Given the description of an element on the screen output the (x, y) to click on. 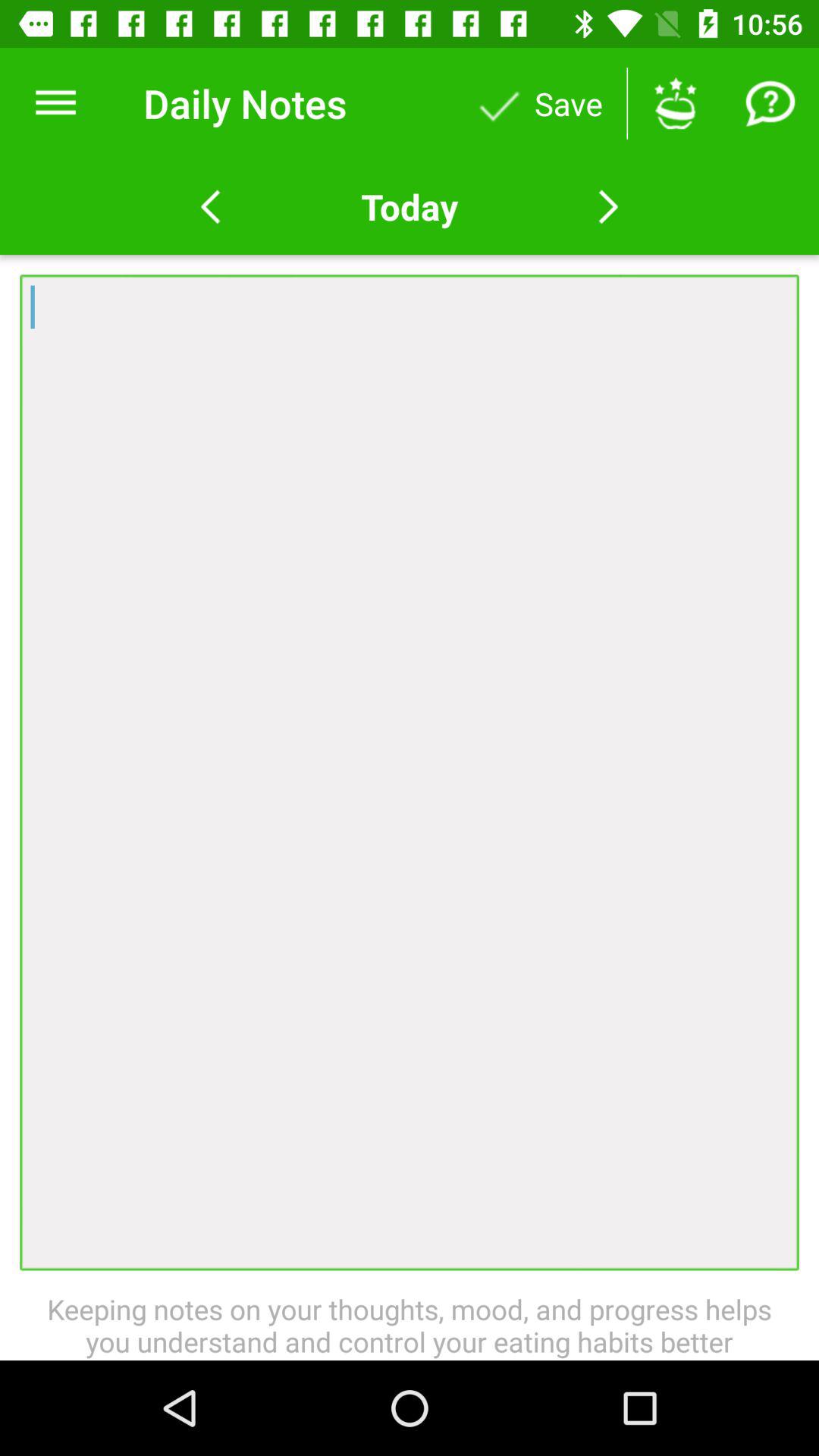
go to next day (608, 206)
